Given the description of an element on the screen output the (x, y) to click on. 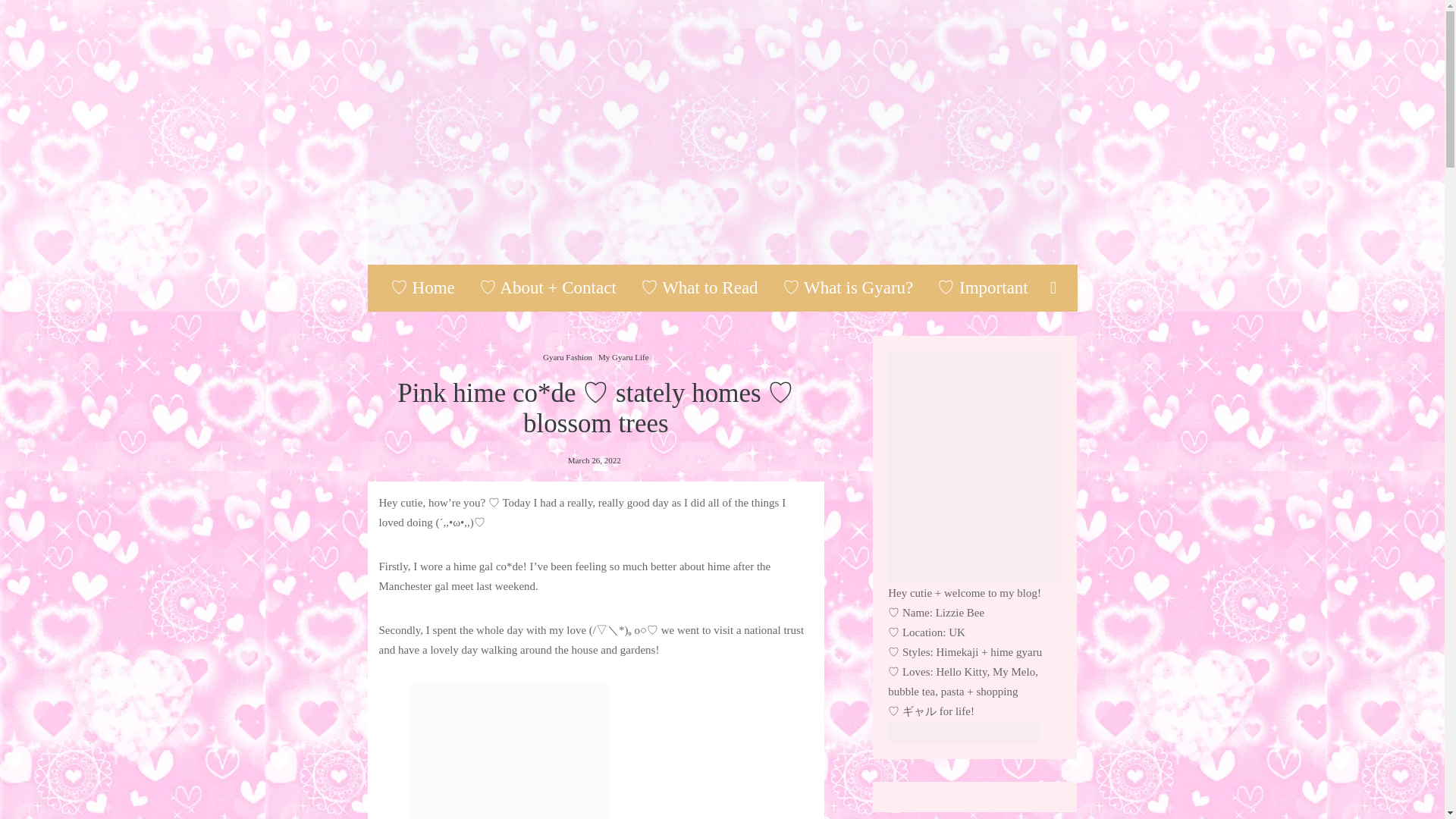
March 26, 2022 (594, 460)
Gyaru Fashion (567, 356)
My Gyaru Life (623, 356)
